Given the description of an element on the screen output the (x, y) to click on. 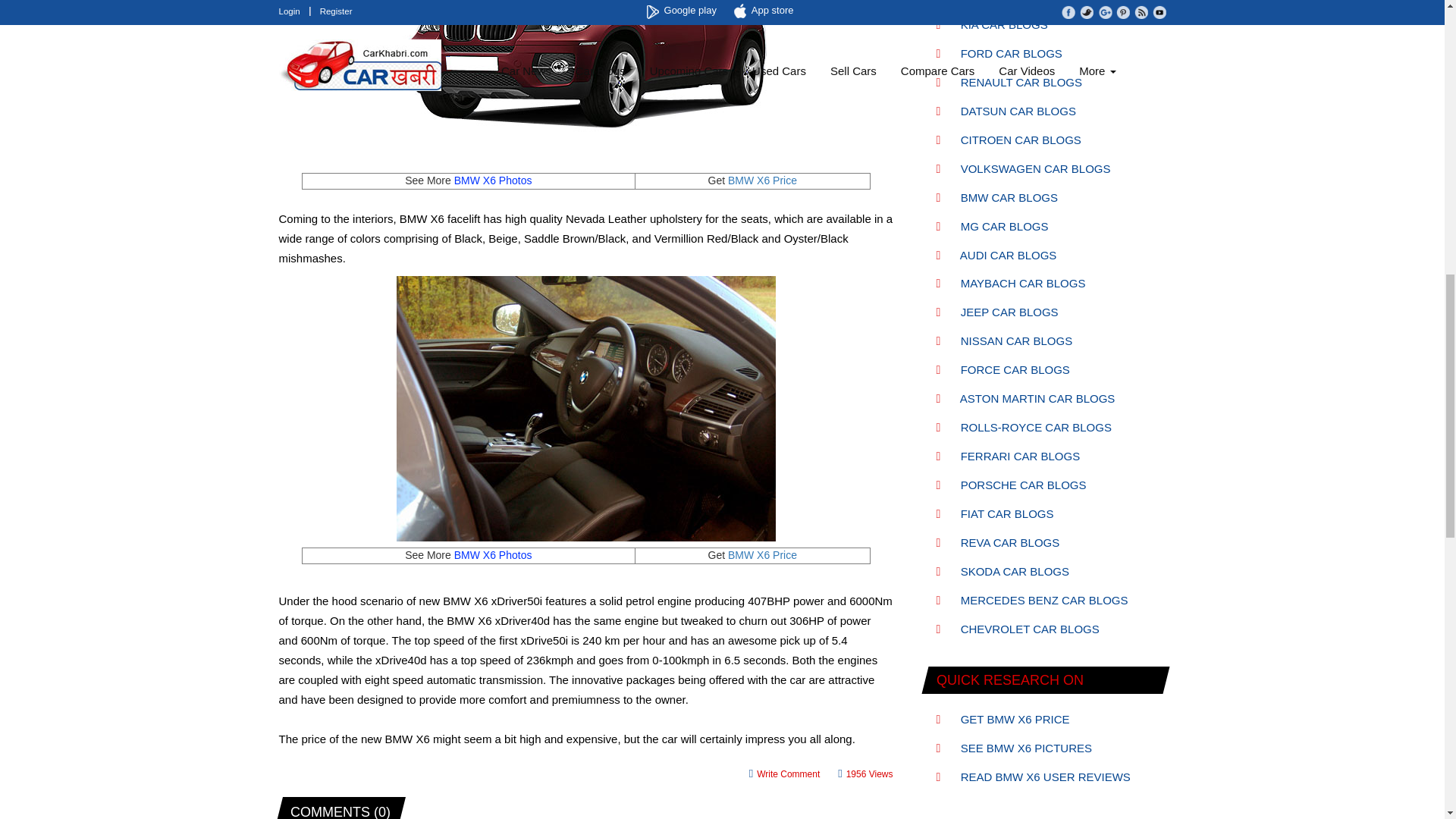
BMW X6 Price (762, 180)
1956 Views (865, 773)
Write Comment (785, 773)
BMW X6 Photos (493, 554)
BMW X6 Price (762, 554)
BMW X6 Photos (493, 180)
